Given the description of an element on the screen output the (x, y) to click on. 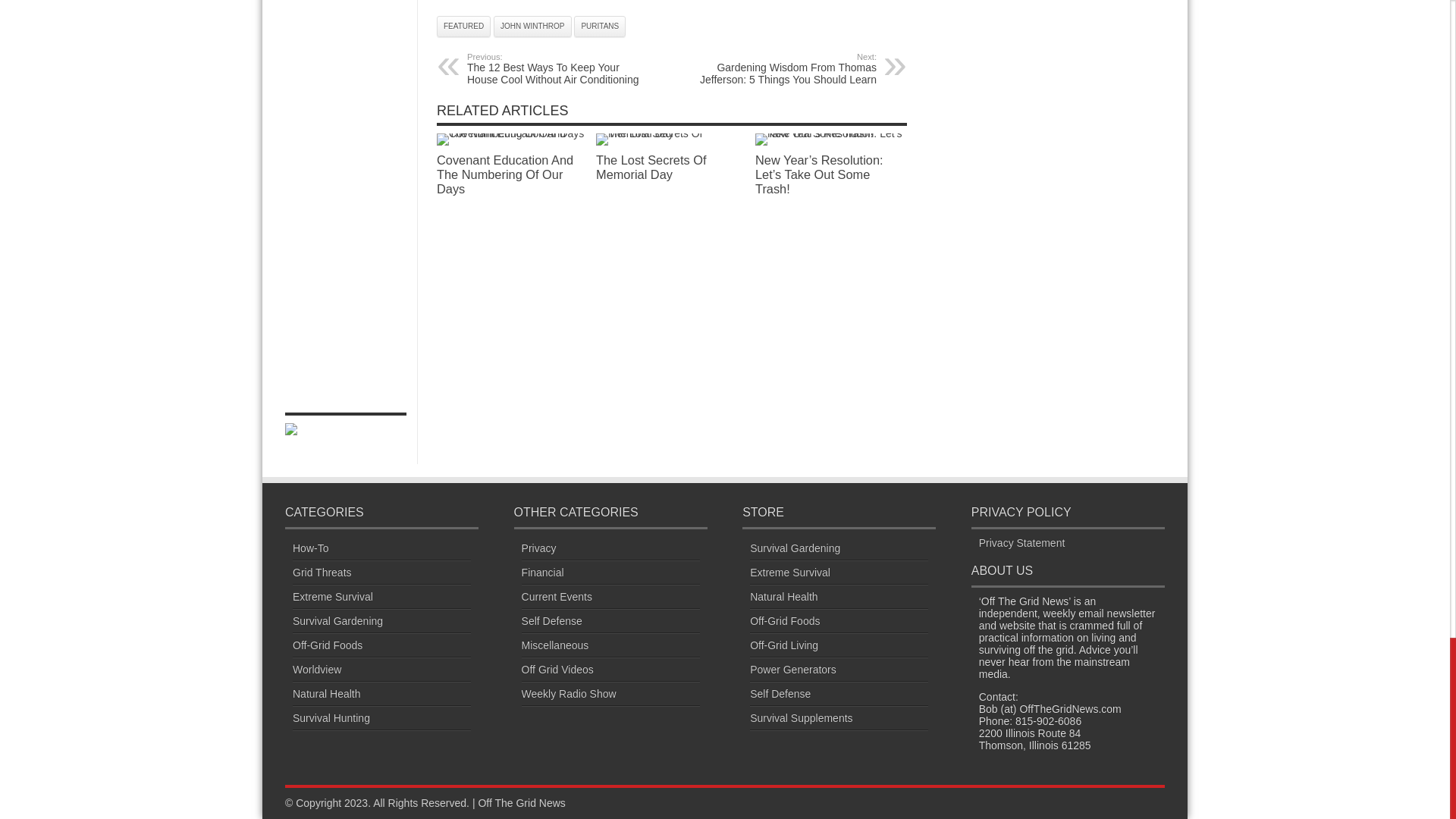
PURITANS (599, 25)
FEATURED (463, 25)
Permalink to The Lost Secrets Of Memorial Day (650, 166)
The Lost Secrets Of Memorial Day (671, 139)
Permalink to The Lost Secrets Of Memorial Day (671, 133)
JOHN WINTHROP (531, 25)
